Given the description of an element on the screen output the (x, y) to click on. 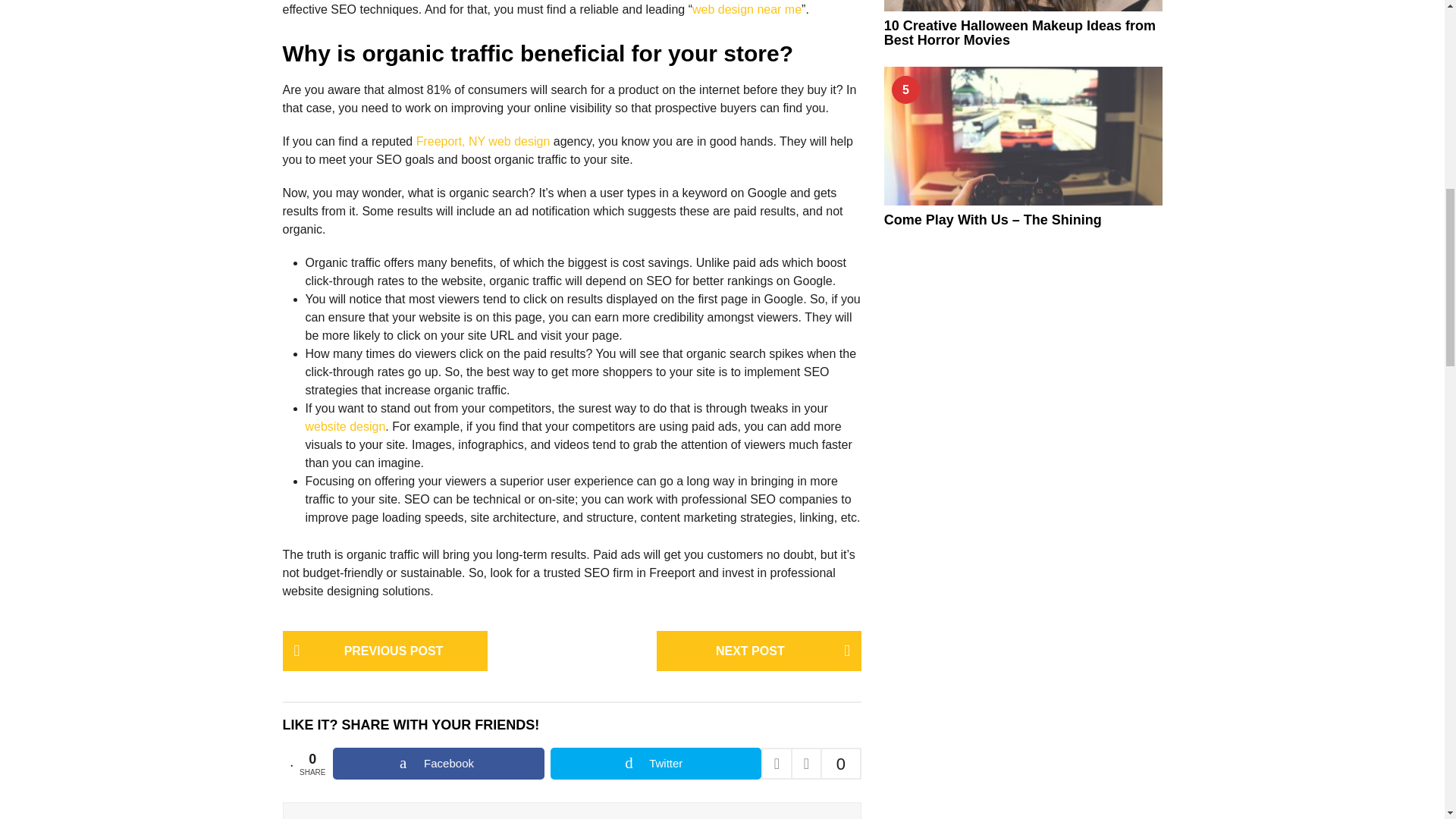
NEXT POST (758, 650)
web design near me (747, 9)
Share on Twitter (655, 763)
PREVIOUS POST (384, 650)
Freeport, NY web design (483, 141)
Share on Facebook (438, 763)
website design (344, 426)
